Given the description of an element on the screen output the (x, y) to click on. 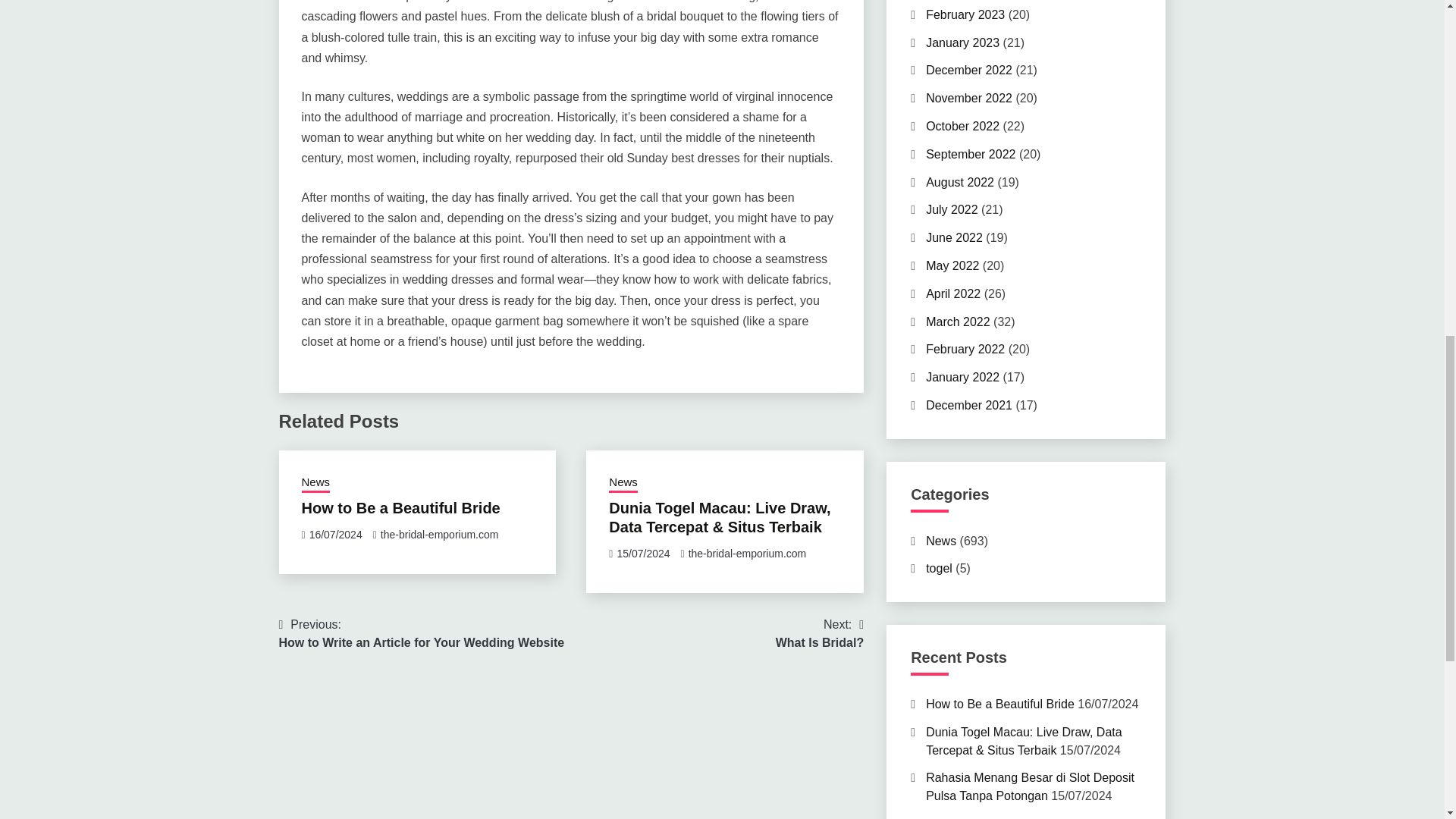
the-bridal-emporium.com (819, 633)
News (439, 534)
How to Be a Beautiful Bride (622, 483)
the-bridal-emporium.com (400, 507)
News (421, 633)
